Given the description of an element on the screen output the (x, y) to click on. 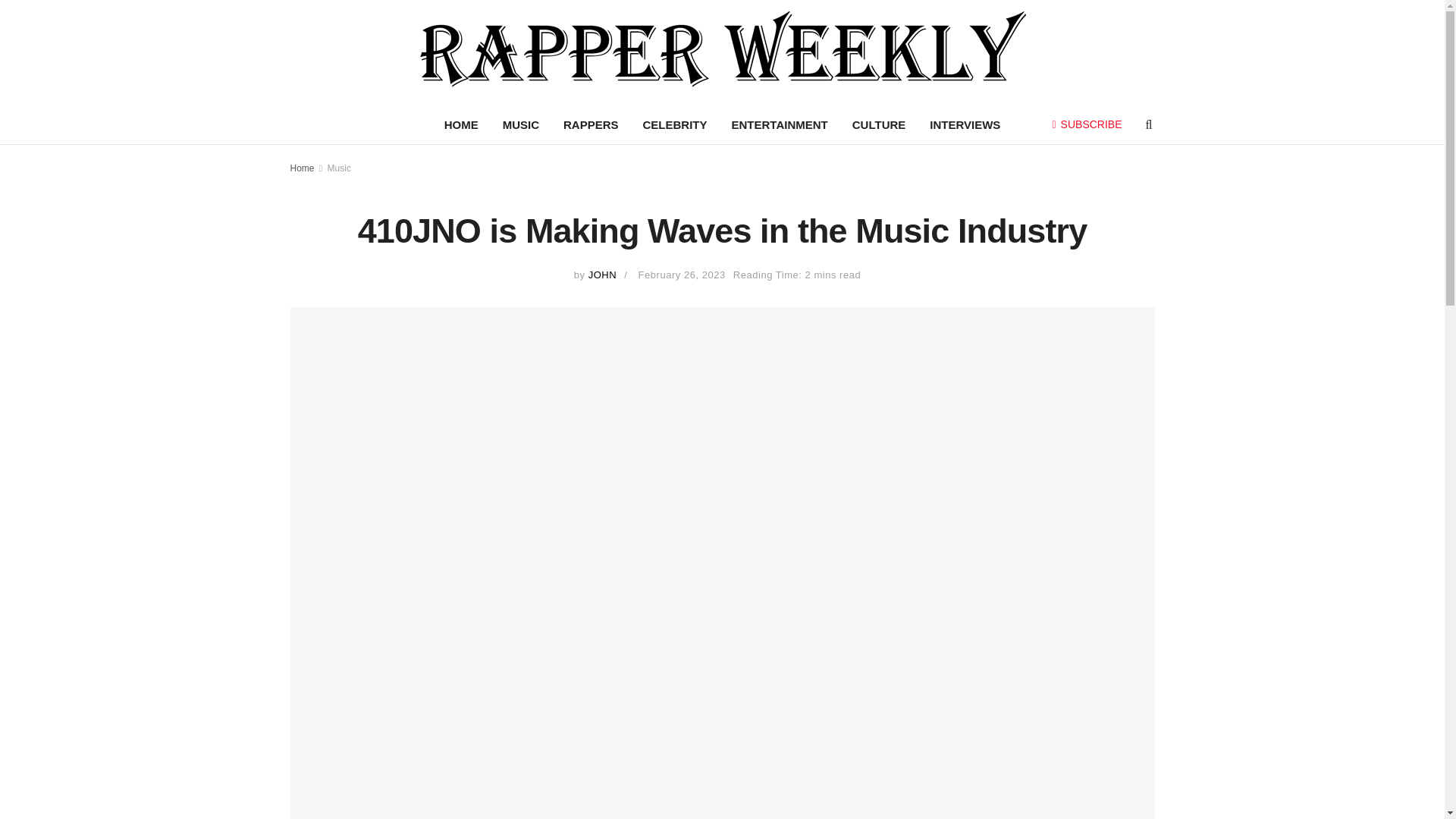
INTERVIEWS (964, 125)
February 26, 2023 (682, 274)
CELEBRITY (674, 125)
CULTURE (879, 125)
ENTERTAINMENT (779, 125)
JOHN (601, 274)
Home (301, 167)
RAPPERS (590, 125)
MUSIC (520, 125)
Music (338, 167)
HOME (461, 125)
SUBSCRIBE (1087, 123)
